Given the description of an element on the screen output the (x, y) to click on. 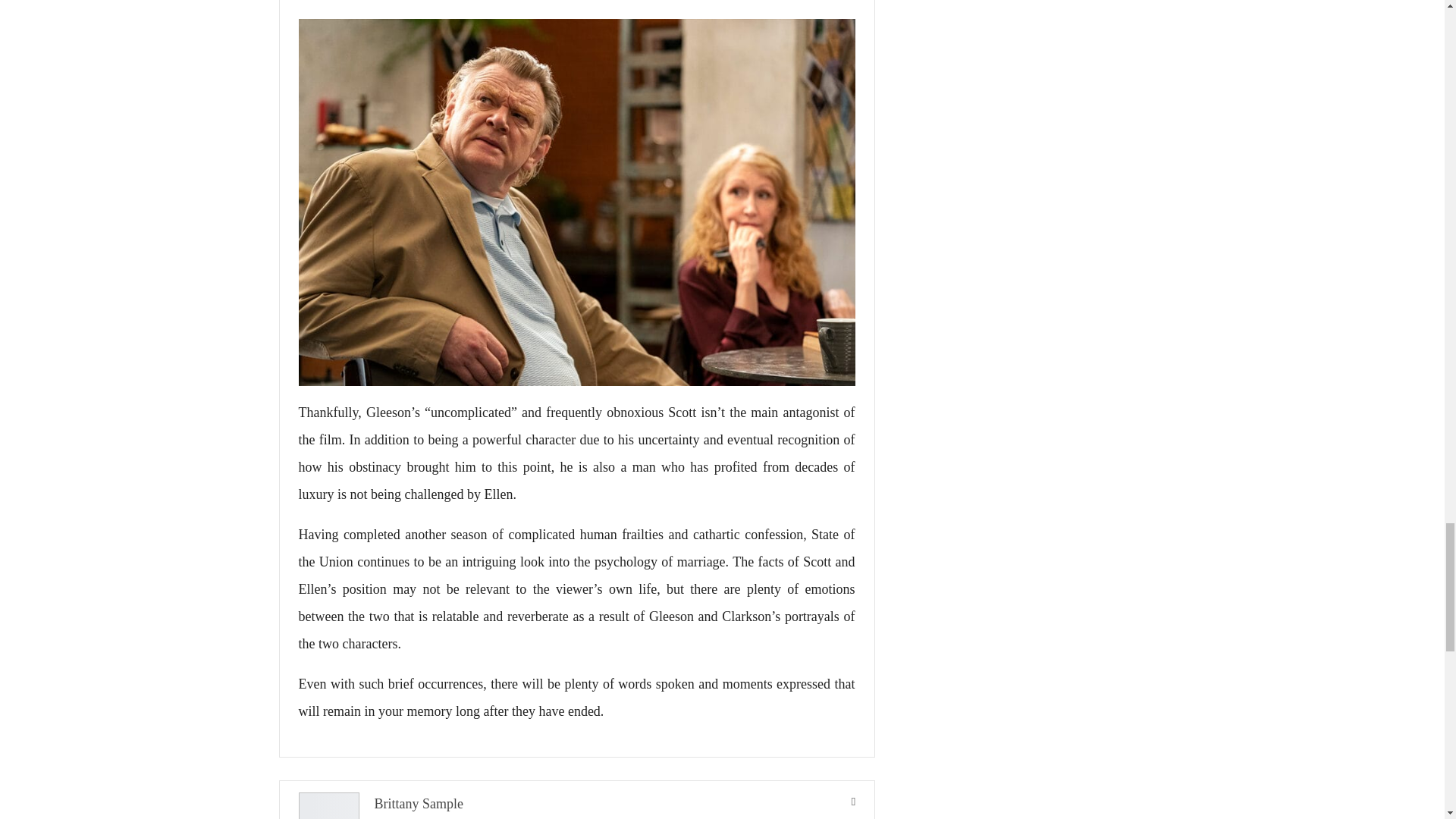
Brittany Sample (418, 803)
